Given the description of an element on the screen output the (x, y) to click on. 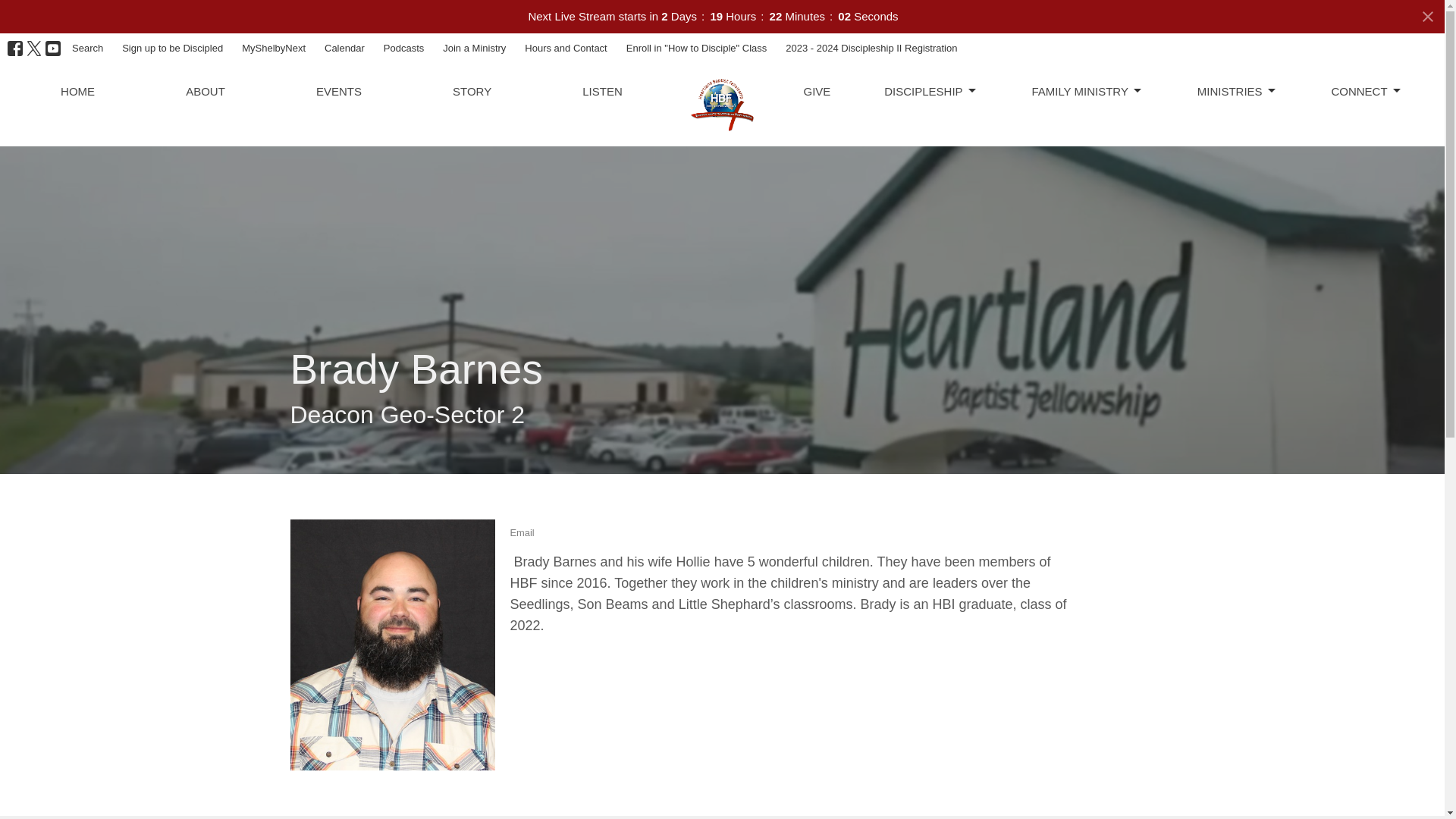
HOME (77, 91)
2023 - 2024 Discipleship II Registration (870, 47)
Sign up to be Discipled (172, 47)
MyShelbyNext (273, 47)
DISCIPLESHIP (929, 91)
STORY (472, 91)
Search (87, 47)
Join a Ministry (474, 47)
MINISTRIES (1237, 91)
Enroll in "How to Disciple" Class (696, 47)
